Given the description of an element on the screen output the (x, y) to click on. 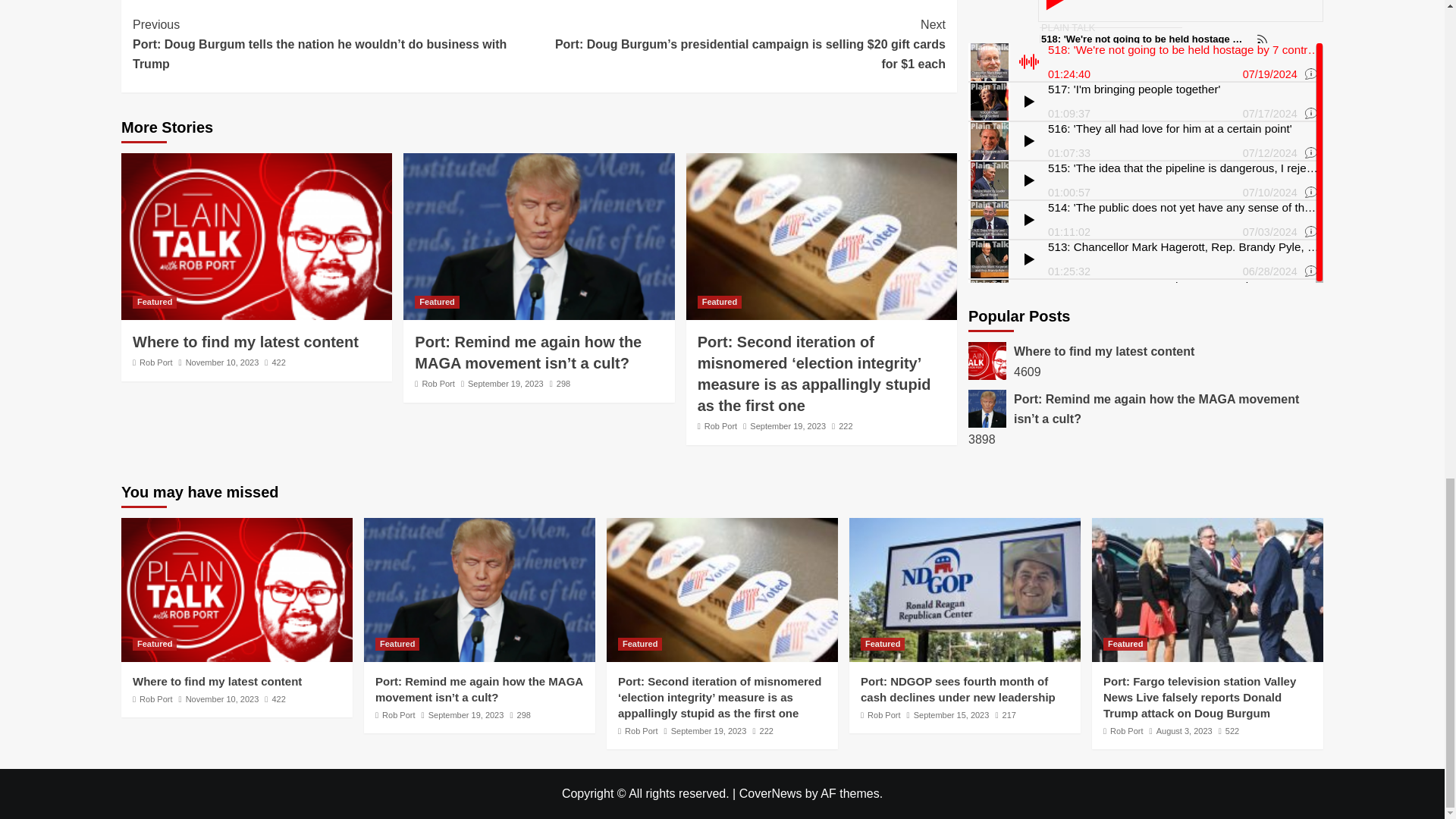
Rob Port (155, 361)
Rob Port (438, 383)
Where to find my latest content (245, 341)
Featured (436, 301)
298 (560, 383)
Featured (154, 301)
November 10, 2023 (222, 361)
September 19, 2023 (505, 383)
422 (274, 361)
